Given the description of an element on the screen output the (x, y) to click on. 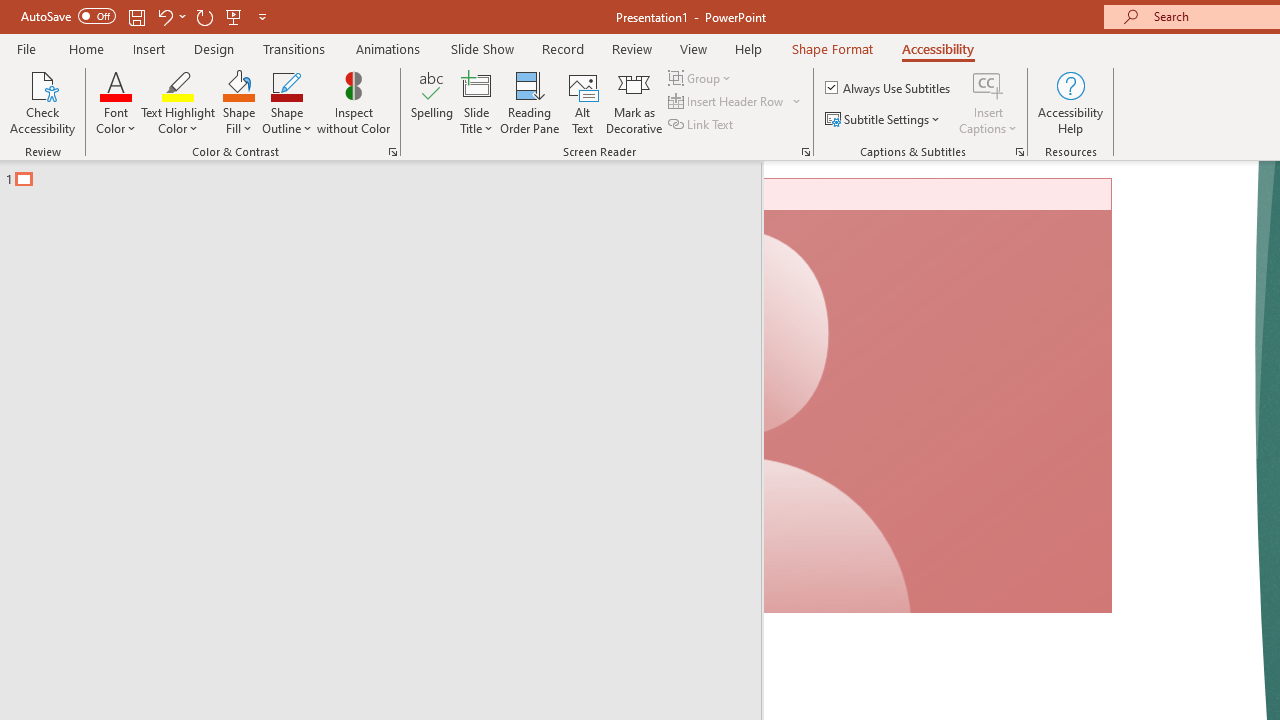
Check Accessibility (42, 102)
Insert Captions (988, 84)
Group (701, 78)
Screen Reader (805, 151)
Insert Header Row (735, 101)
Shape Outline Blue, Accent 1 (286, 84)
Accessibility Help (1070, 102)
Shape Outline (286, 102)
